Given the description of an element on the screen output the (x, y) to click on. 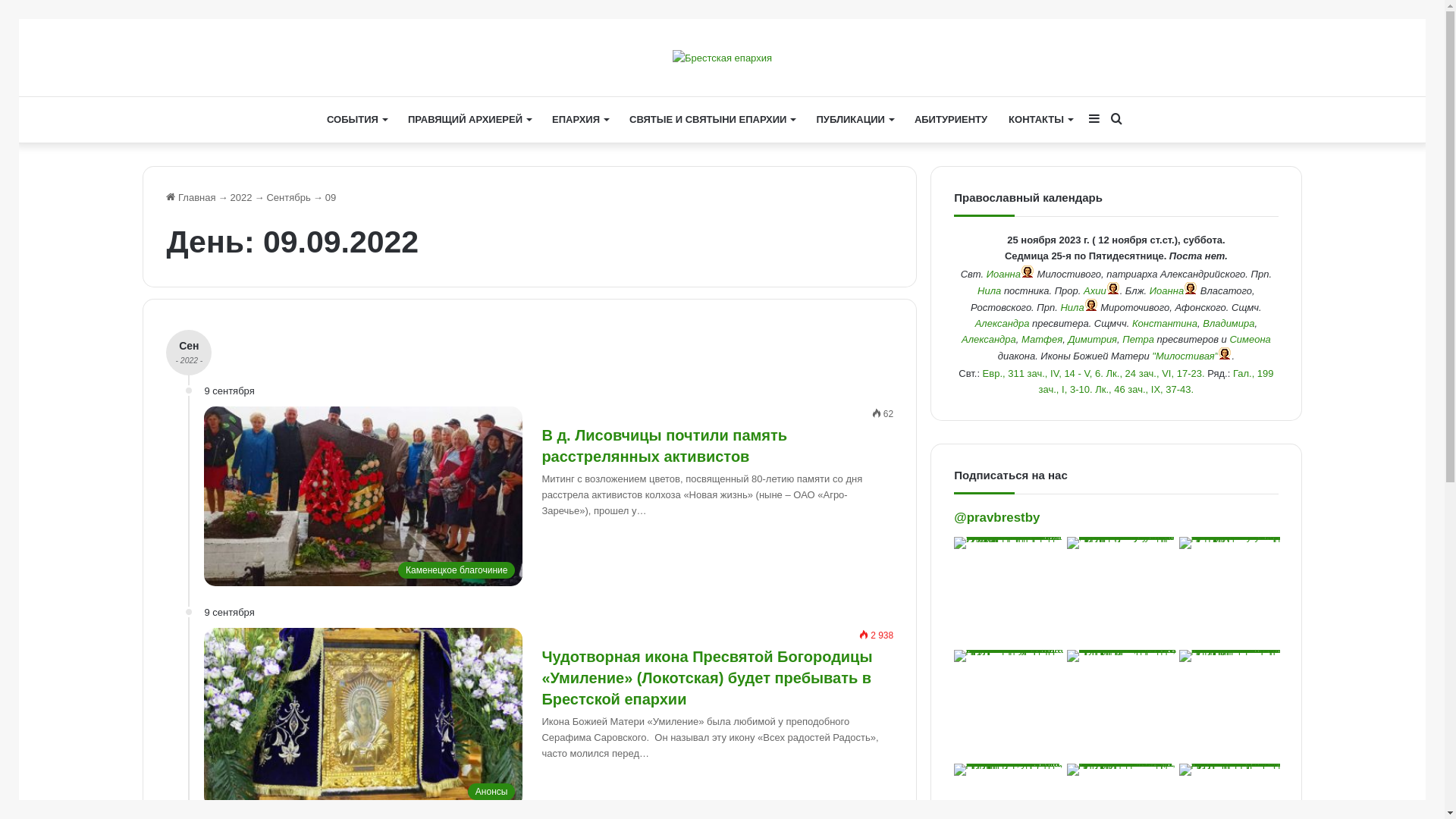
2022 Element type: text (241, 197)
Sidebar Element type: text (1093, 119)
@pravbrestby Element type: text (996, 517)
